Given the description of an element on the screen output the (x, y) to click on. 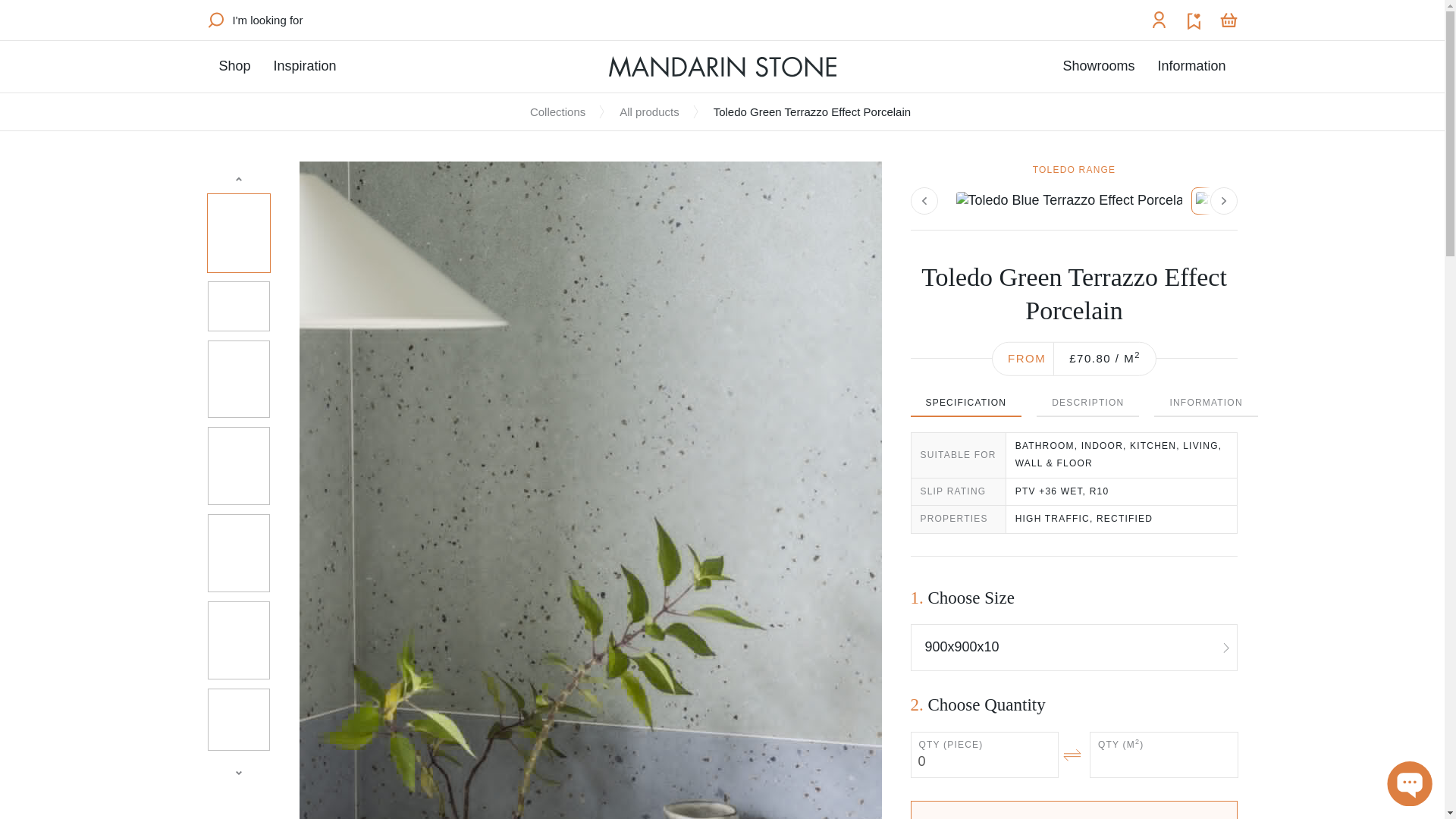
Home (721, 66)
Showrooms (1098, 66)
I'm looking for (254, 19)
Inspiration (304, 66)
Shop (234, 66)
0 (984, 754)
Inspiration (304, 66)
My Account (1159, 19)
Shop (234, 66)
Information (1191, 66)
